Given the description of an element on the screen output the (x, y) to click on. 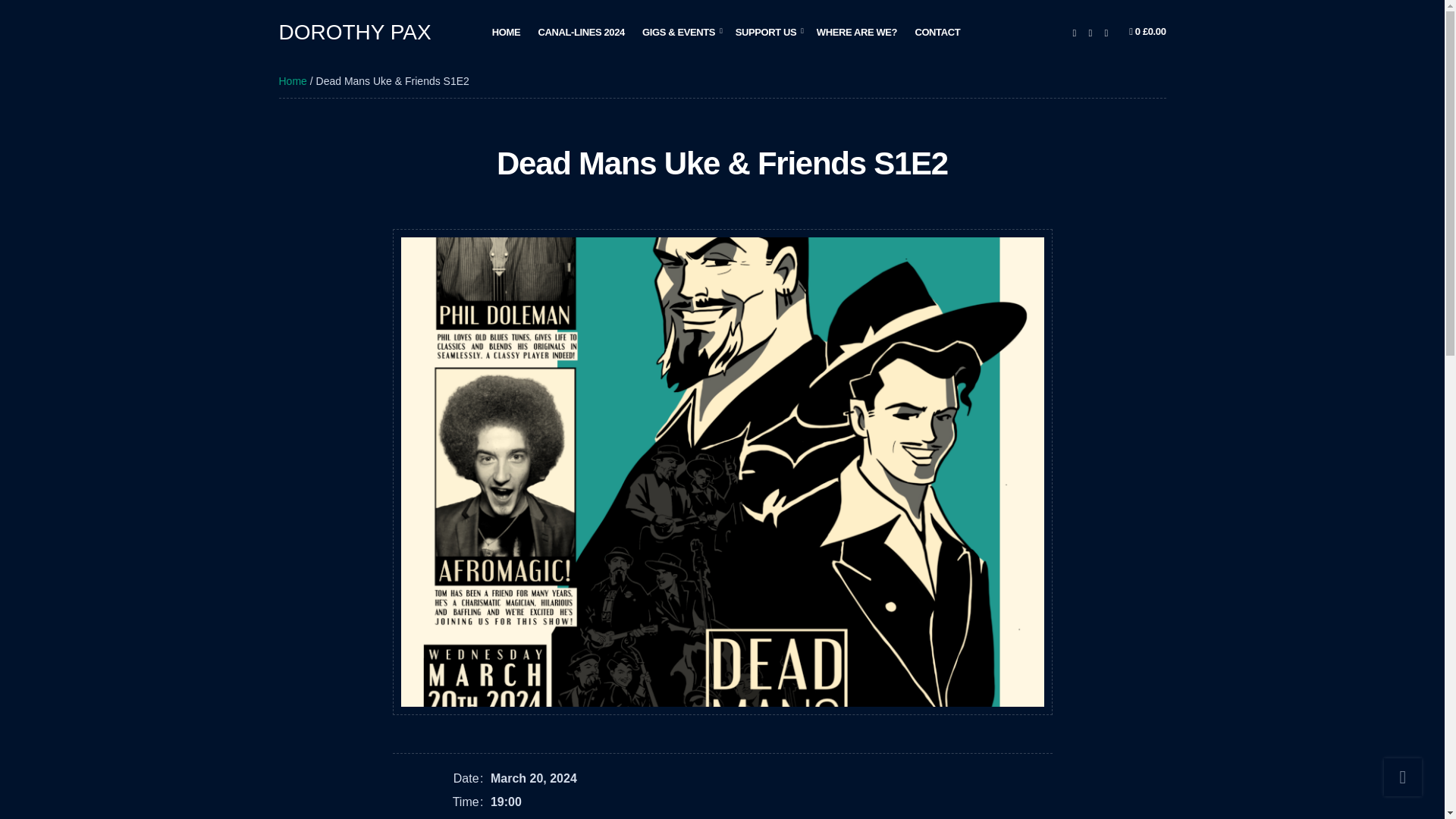
WHERE ARE WE? (856, 31)
FACEBOOK (1073, 31)
TWITTER (1089, 31)
CANAL-LINES 2024 (580, 31)
INSTAGRAM (1105, 31)
SUPPORT US (767, 31)
DOROTHY PAX (354, 32)
Home (293, 80)
HOME (505, 31)
Scroll to the top (1403, 777)
